Given the description of an element on the screen output the (x, y) to click on. 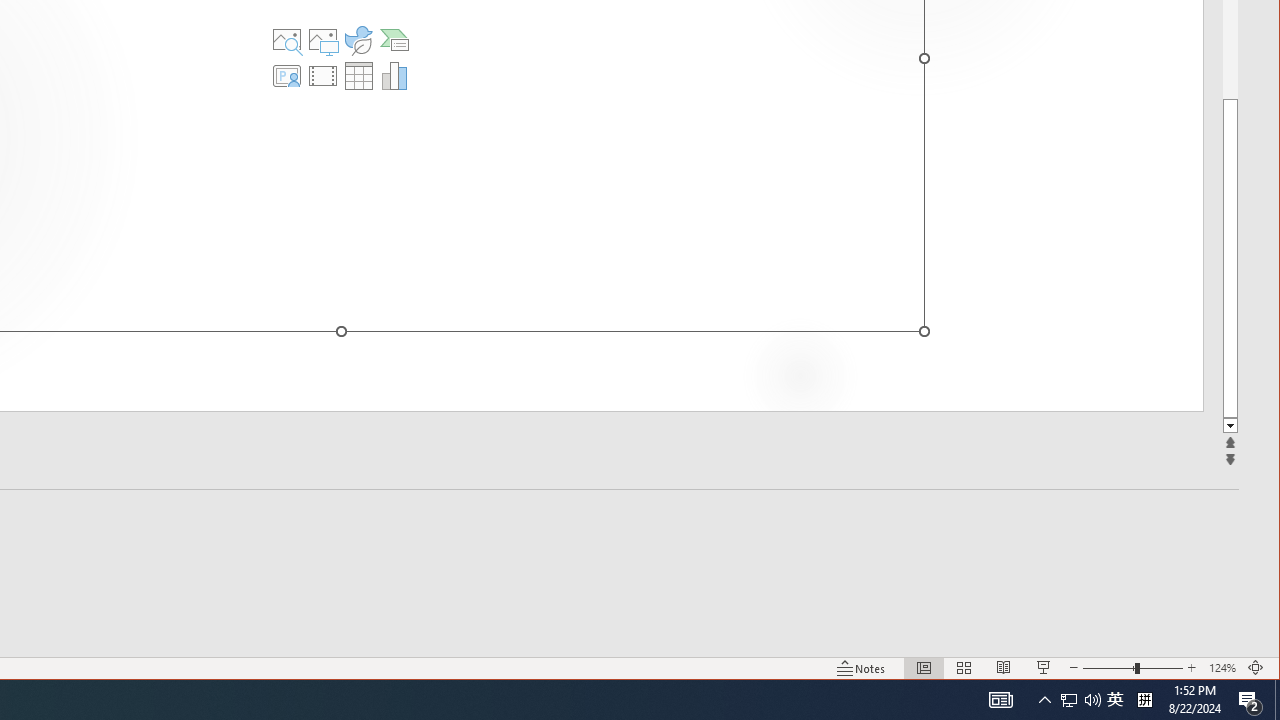
Insert Video (323, 75)
Insert Table (359, 75)
Insert an Icon (359, 39)
Zoom 124% (1222, 668)
Insert Cameo (287, 75)
Action Center, 2 new notifications (1250, 699)
Insert Chart (394, 75)
